Given the description of an element on the screen output the (x, y) to click on. 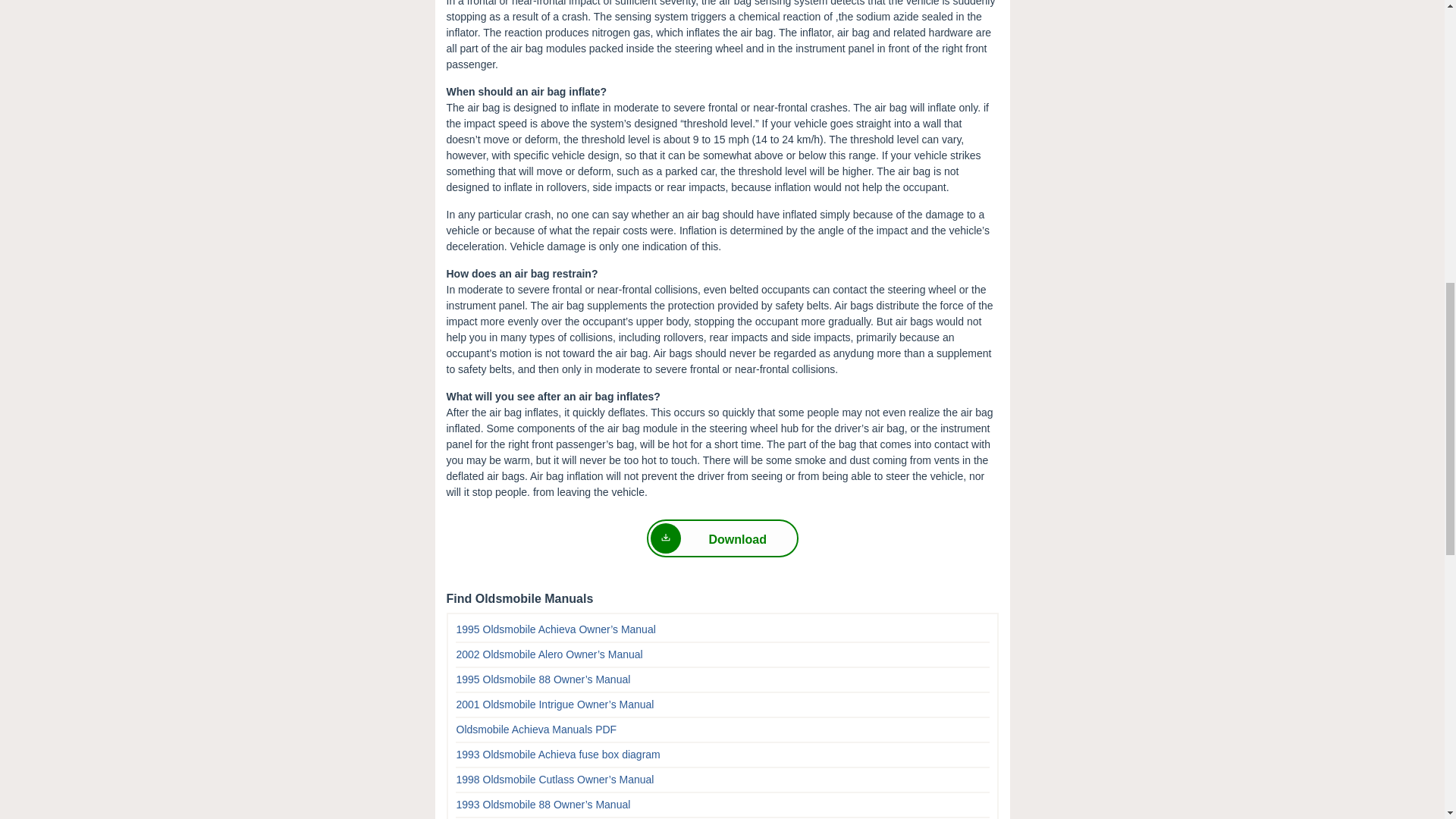
Oldsmobile Achieva Manuals PDF (537, 729)
1993 Oldsmobile Achieva fuse box diagram (559, 754)
Oldsmobile Achieva Manuals PDF (537, 729)
Download (721, 538)
